Given the description of an element on the screen output the (x, y) to click on. 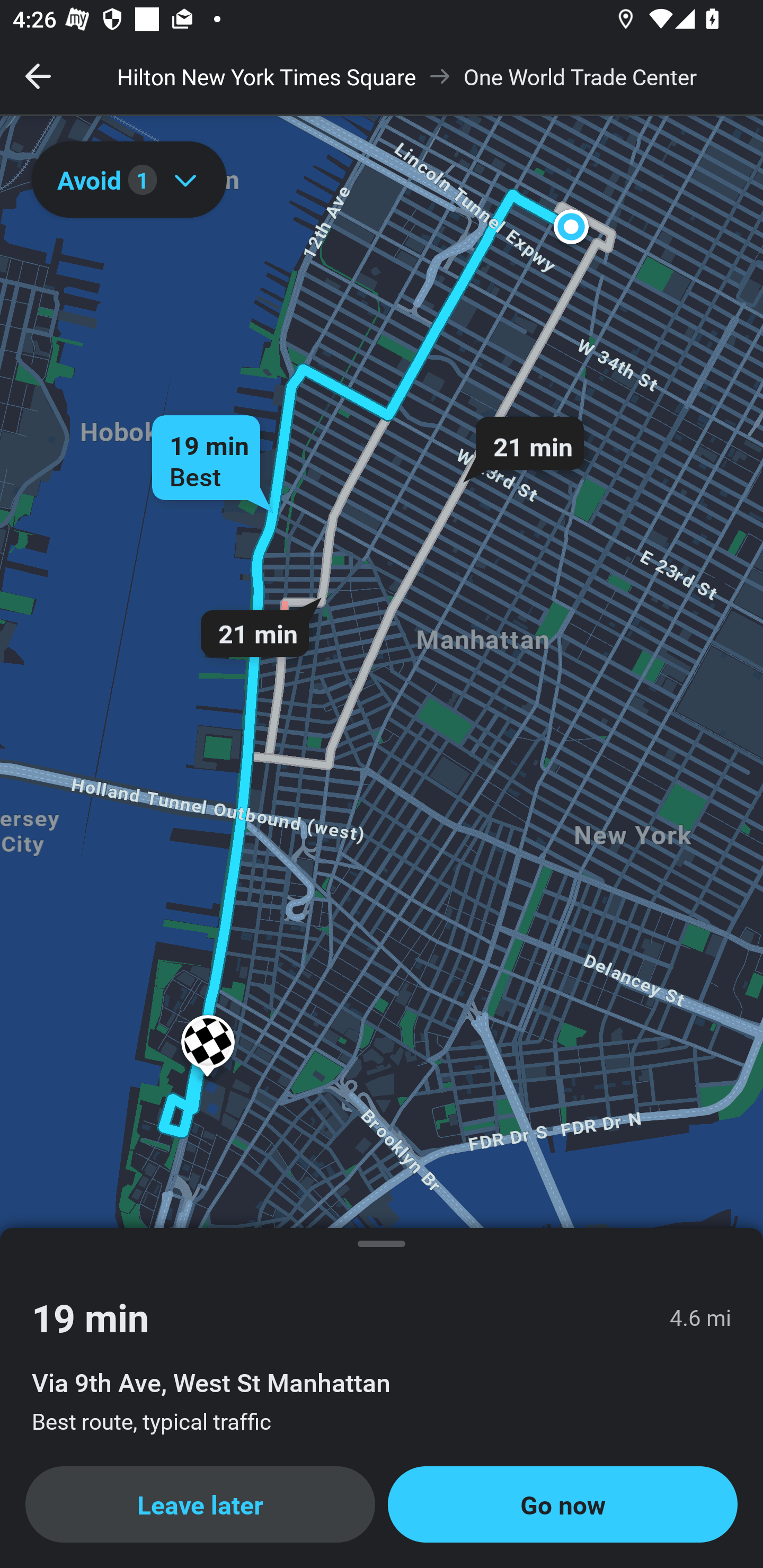
Leave later (200, 1504)
Go now (562, 1504)
